Given the description of an element on the screen output the (x, y) to click on. 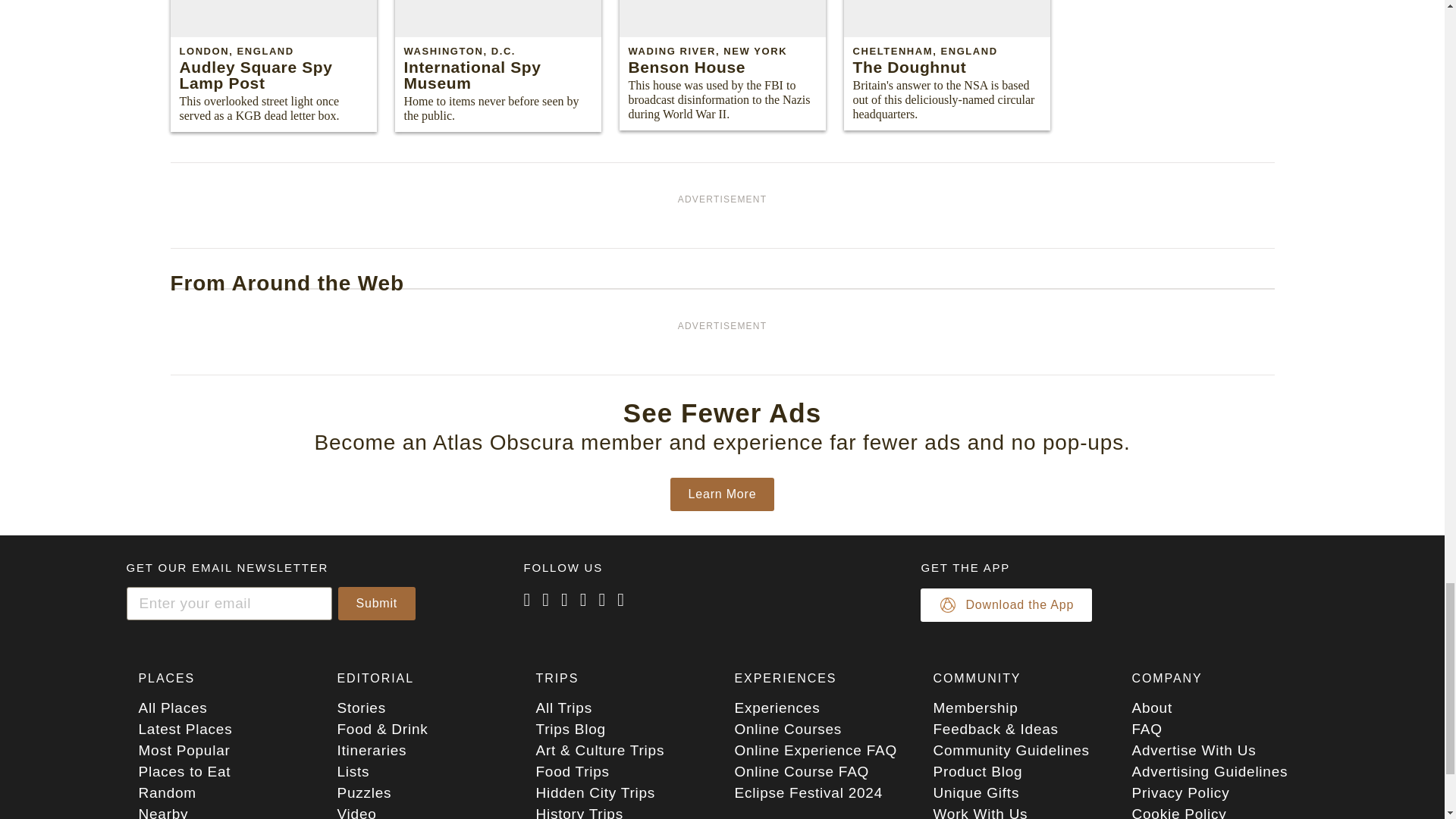
Submit (376, 603)
